Given the description of an element on the screen output the (x, y) to click on. 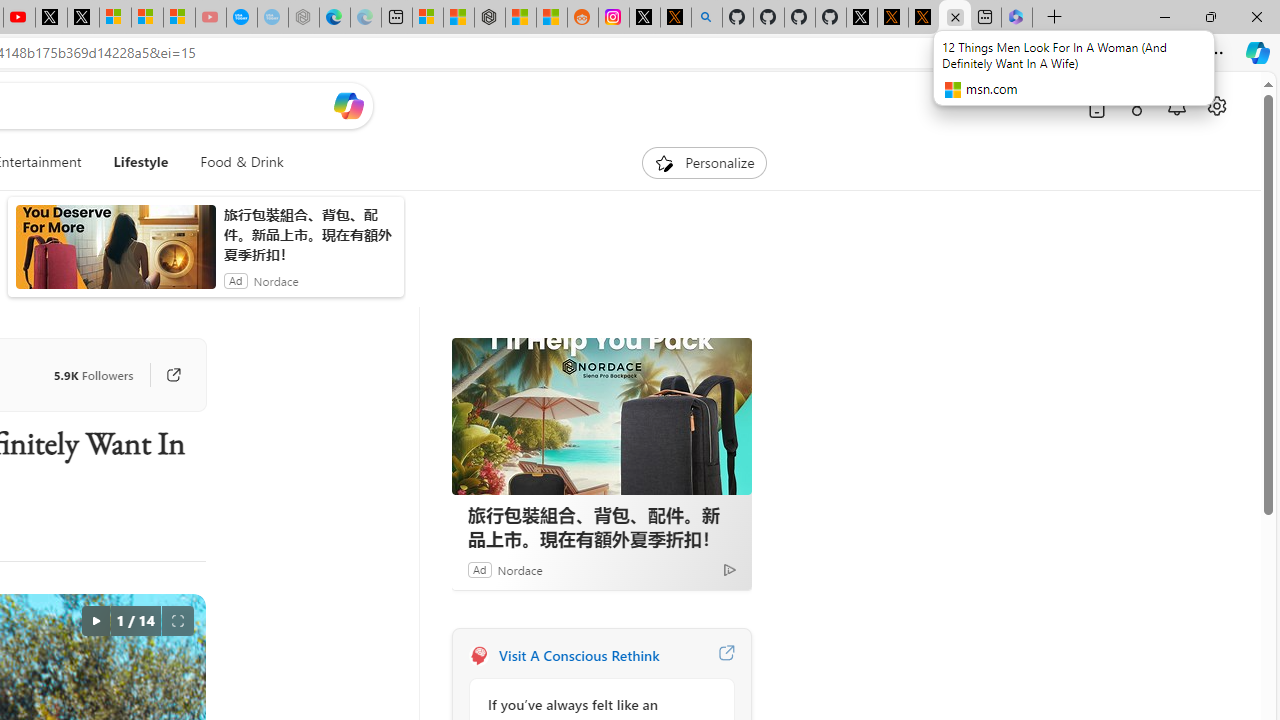
Nordace - Nordace has arrived Hong Kong - Sleeping (303, 17)
Open settings (1216, 105)
Lifestyle (141, 162)
Nordace - Duffels (489, 17)
The most popular Google 'how to' searches - Sleeping (272, 17)
Food & Drink (234, 162)
Profile / X (861, 17)
